Given the description of an element on the screen output the (x, y) to click on. 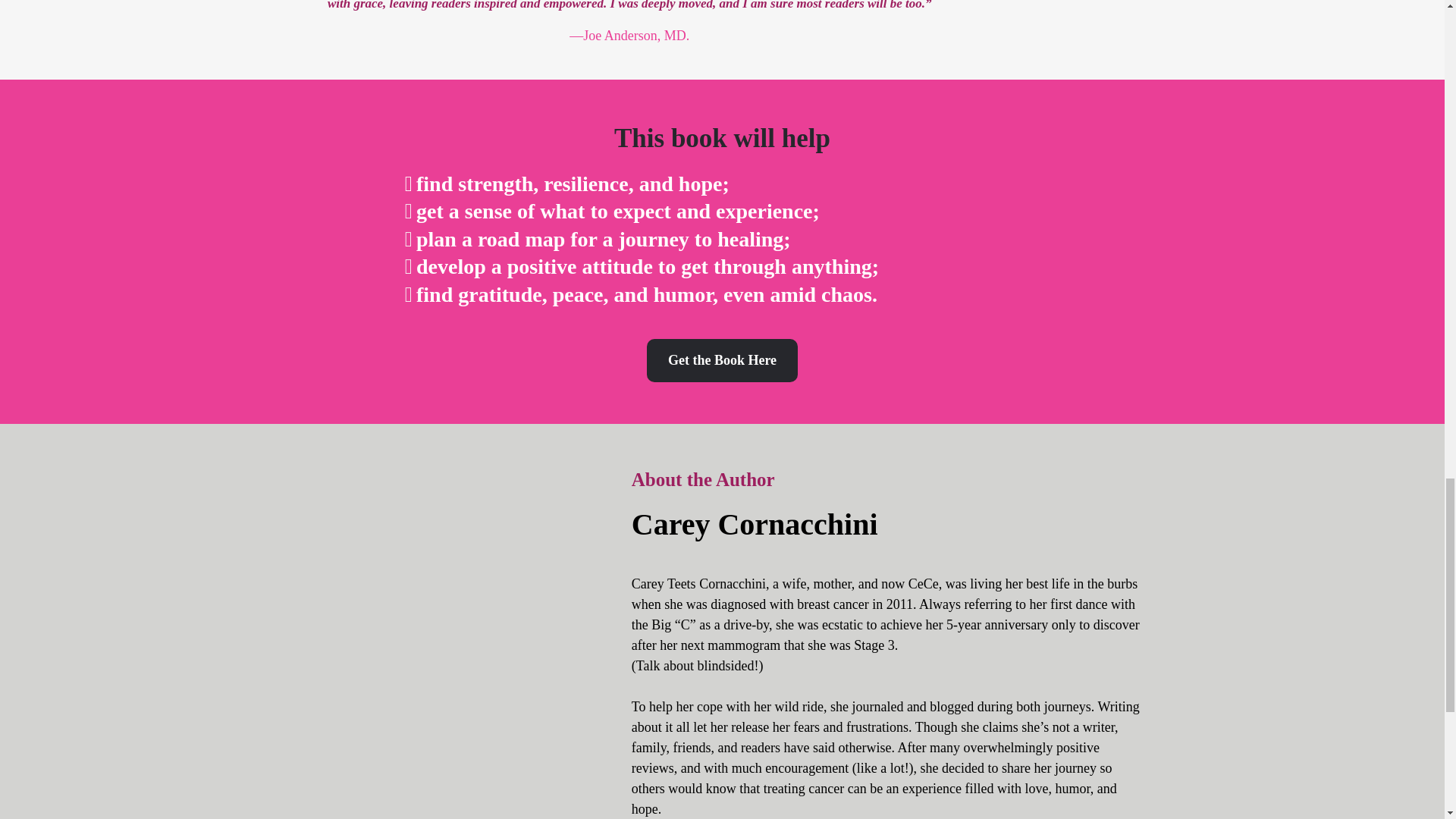
Get the Book Here (721, 360)
